Given the description of an element on the screen output the (x, y) to click on. 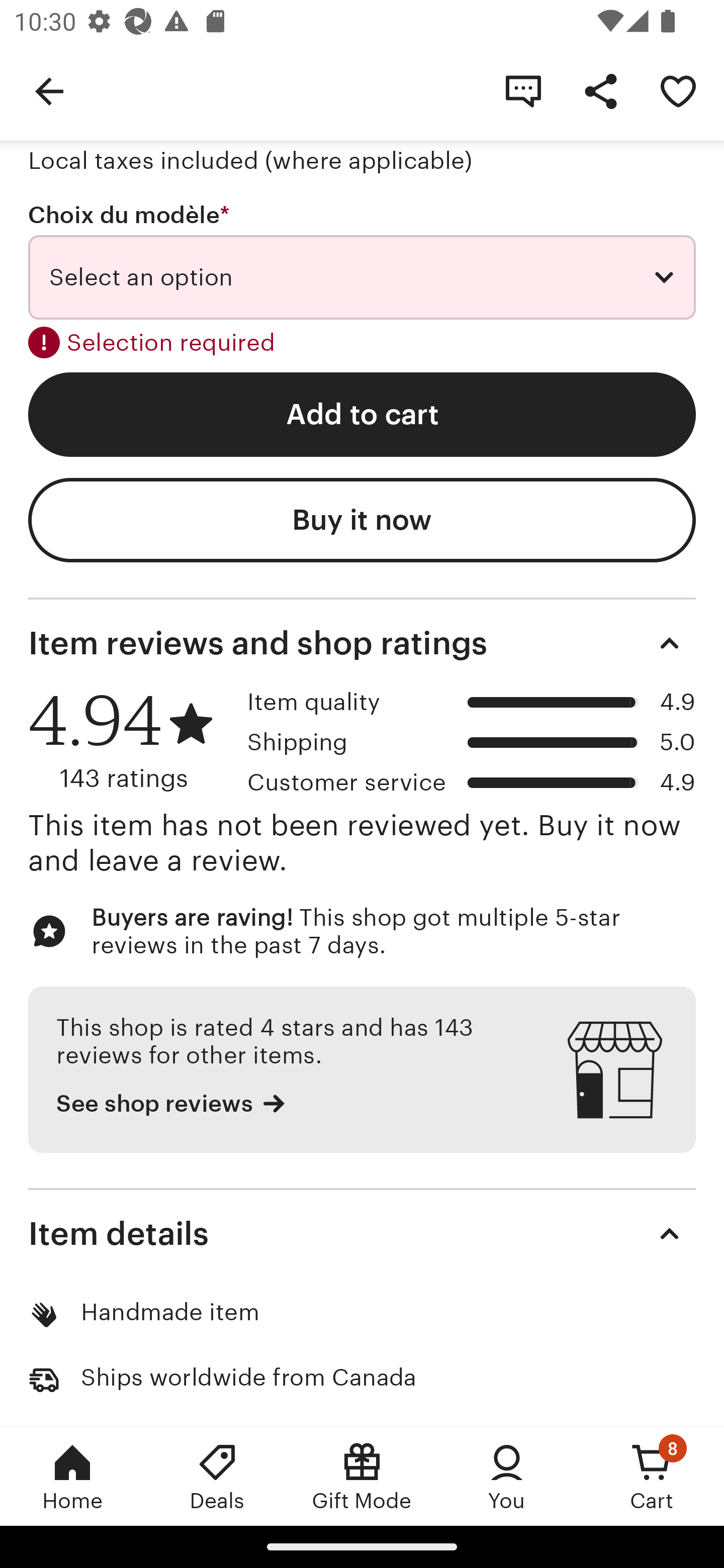
Navigate up (49, 90)
Contact shop (523, 90)
Share (600, 90)
Select an option (361, 277)
Add to cart (361, 414)
Buy it now (361, 520)
Item reviews and shop ratings (362, 642)
4.94 143 ratings (130, 739)
Item details (362, 1233)
Deals (216, 1475)
Gift Mode (361, 1475)
You (506, 1475)
Cart, 8 new notifications Cart (651, 1475)
